Given the description of an element on the screen output the (x, y) to click on. 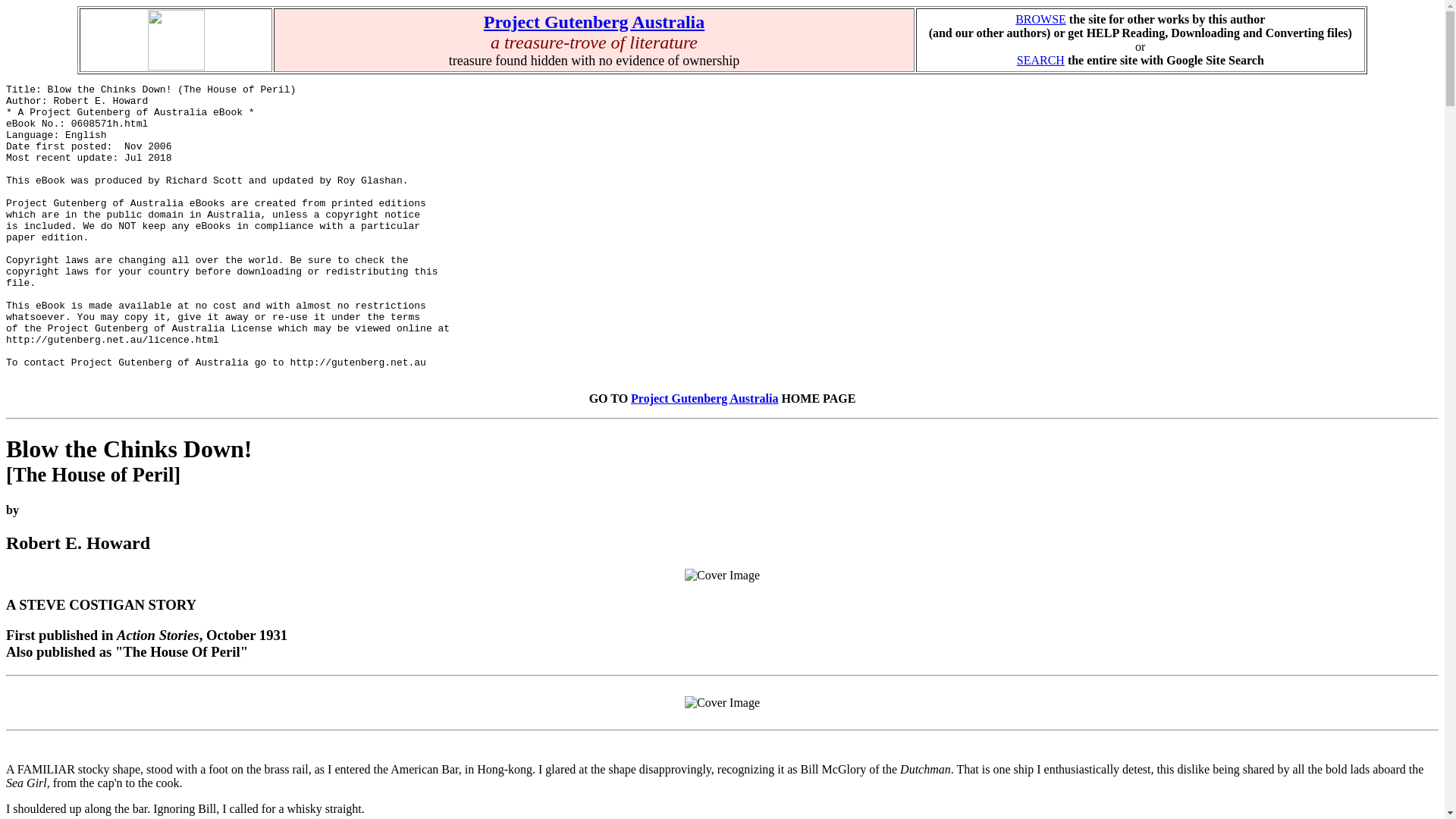
SEARCH (1040, 60)
Project Gutenberg Australia (593, 21)
BROWSE (1039, 19)
Project Gutenberg Australia (703, 398)
Action Stories, October 1931 (722, 703)
